Given the description of an element on the screen output the (x, y) to click on. 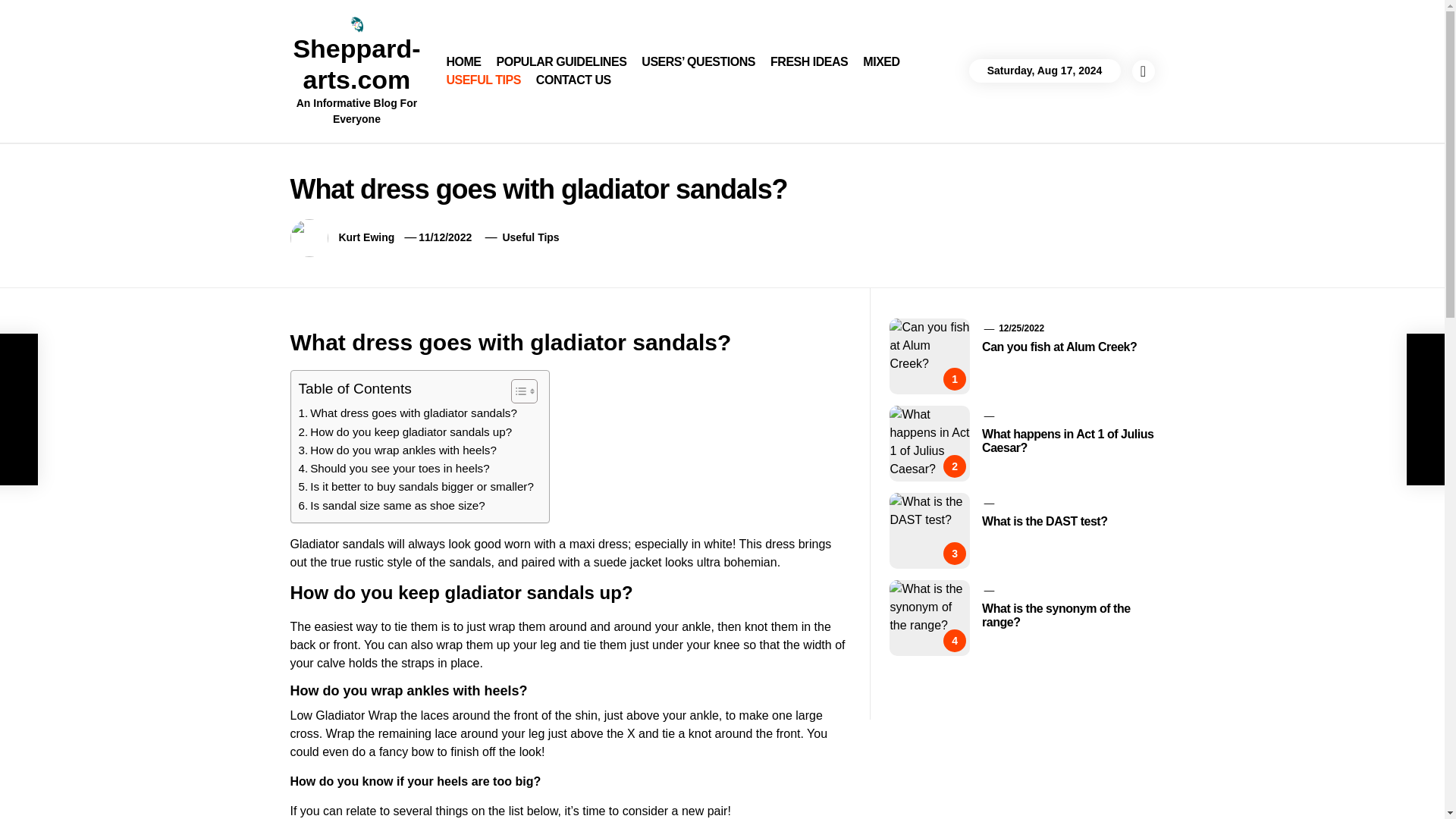
HOME (462, 62)
What dress goes with gladiator sandals? (407, 413)
USEFUL TIPS (482, 80)
Should you see your toes in heels? (393, 468)
CONTACT US (573, 80)
MIXED (881, 62)
Sheppard-arts.com (356, 64)
What dress goes with gladiator sandals? (407, 413)
How do you wrap ankles with heels? (397, 450)
How do you wrap ankles with heels? (397, 450)
